Given the description of an element on the screen output the (x, y) to click on. 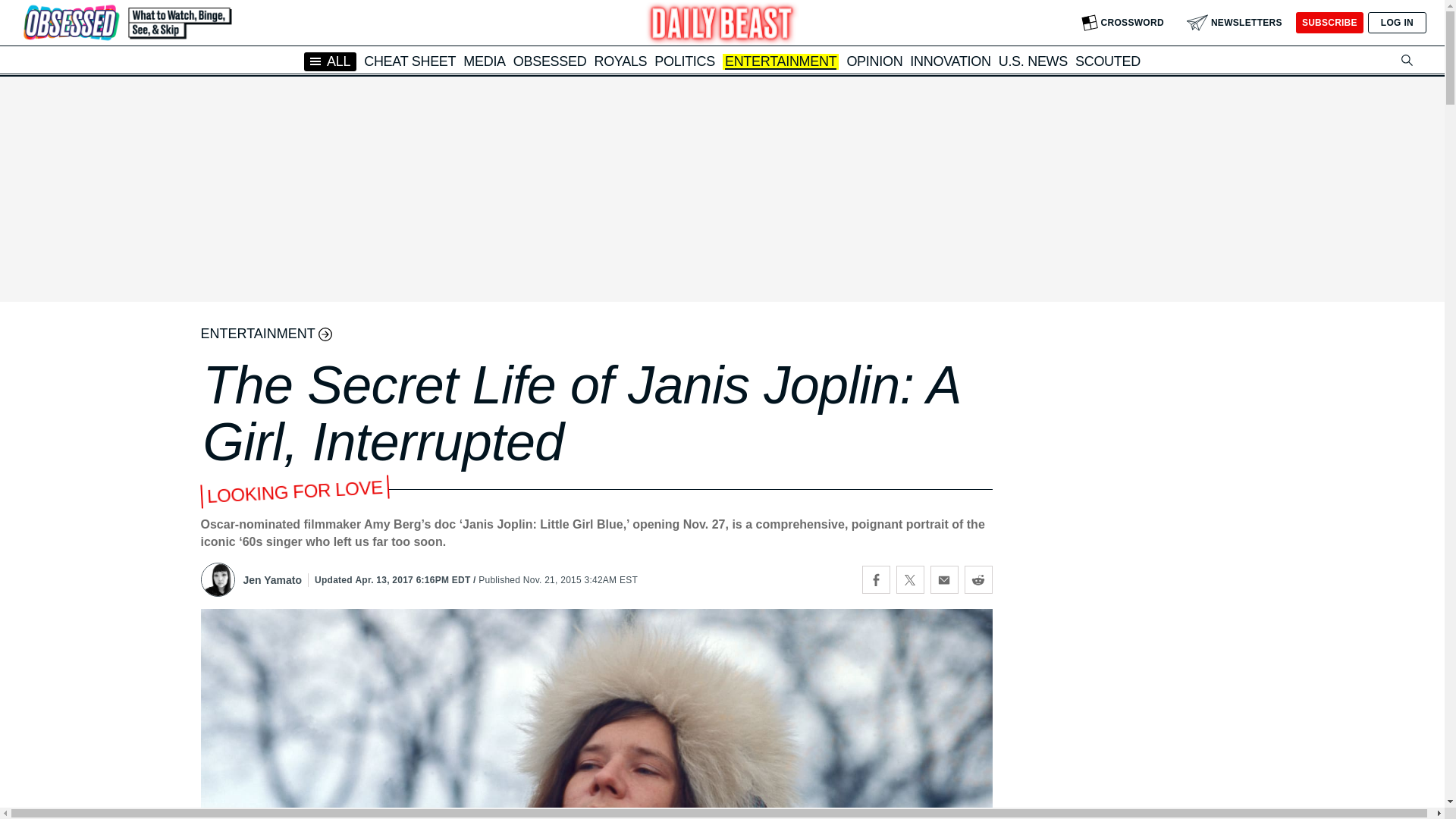
INNOVATION (950, 60)
LOG IN (1397, 22)
ENTERTAINMENT (780, 61)
MEDIA (484, 60)
OBSESSED (549, 60)
ALL (330, 60)
SUBSCRIBE (1328, 22)
U.S. NEWS (1032, 60)
NEWSLETTERS (1234, 22)
CROSSWORD (1122, 22)
